Given the description of an element on the screen output the (x, y) to click on. 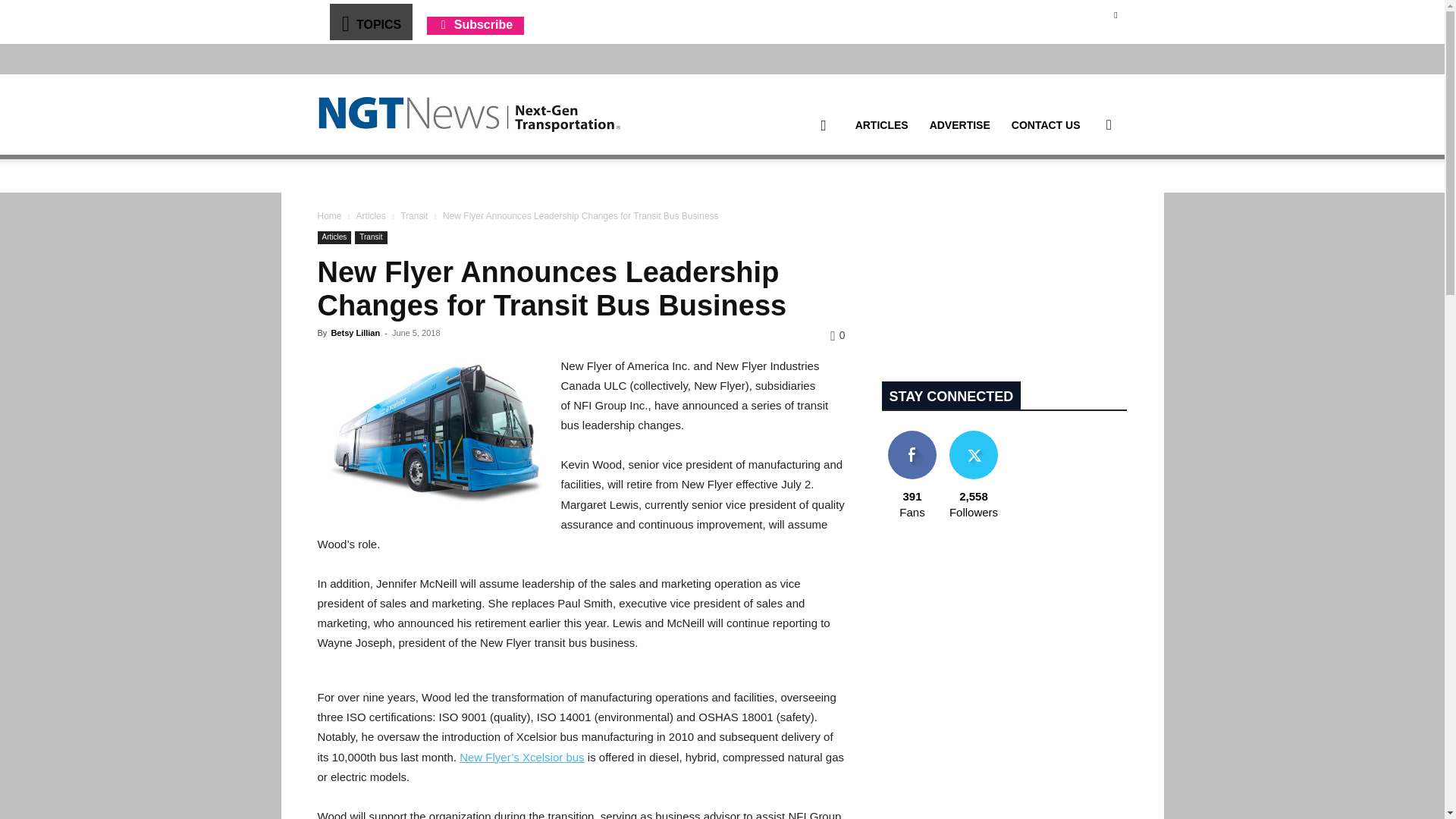
ARTICLES (881, 124)
Subscribe (475, 24)
Search (1085, 197)
TOPICS (370, 22)
NGT News (468, 114)
Alternative Fuel News, CNG News (468, 114)
Twitter (1114, 14)
